Given the description of an element on the screen output the (x, y) to click on. 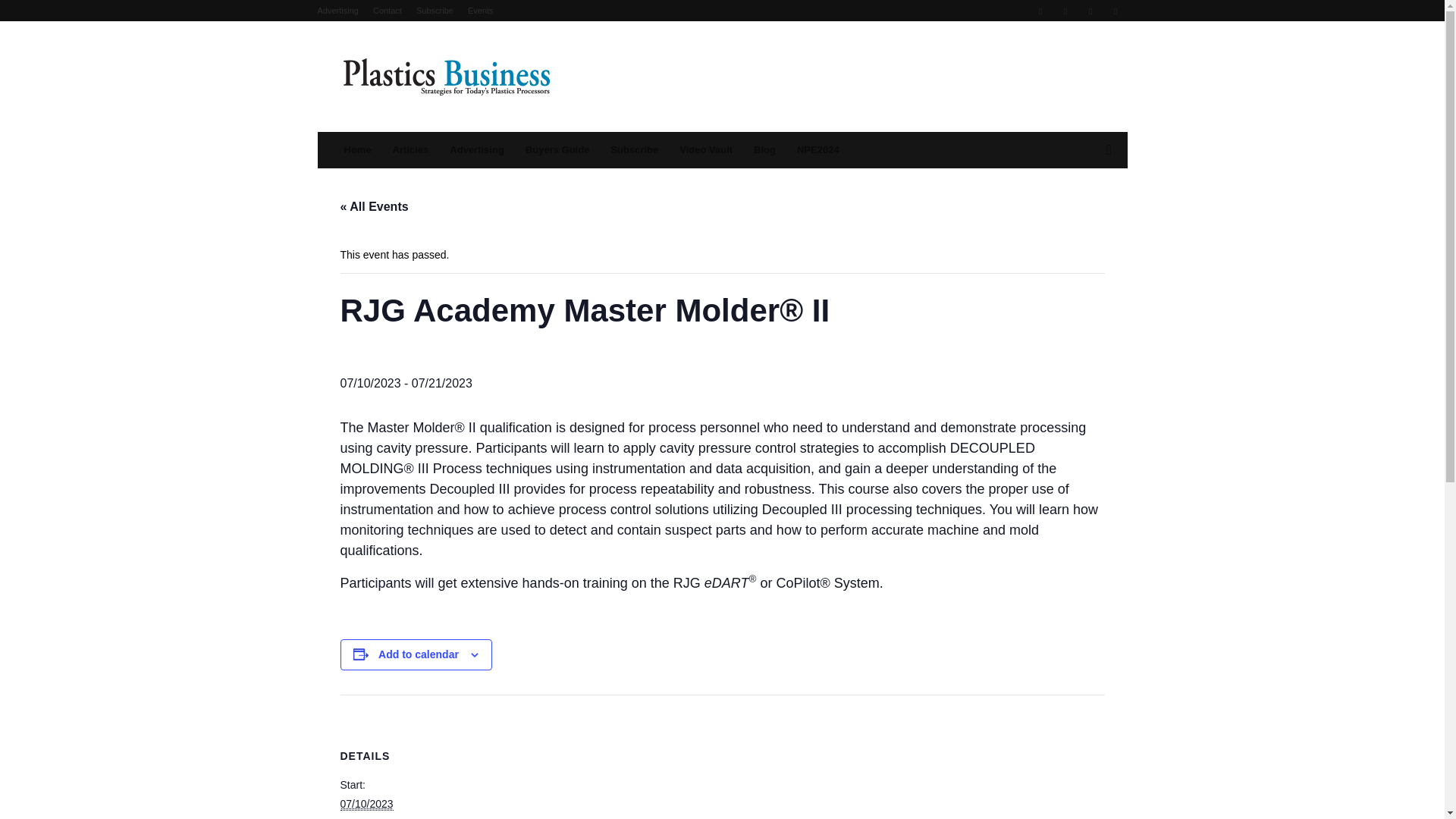
Twitter (1090, 10)
Youtube (1114, 10)
Contact (386, 10)
Advertising (337, 10)
Facebook (1040, 10)
Home (357, 149)
Linkedin (1065, 10)
Subscribe (434, 10)
Events (480, 10)
2023-07-10 (366, 803)
